Given the description of an element on the screen output the (x, y) to click on. 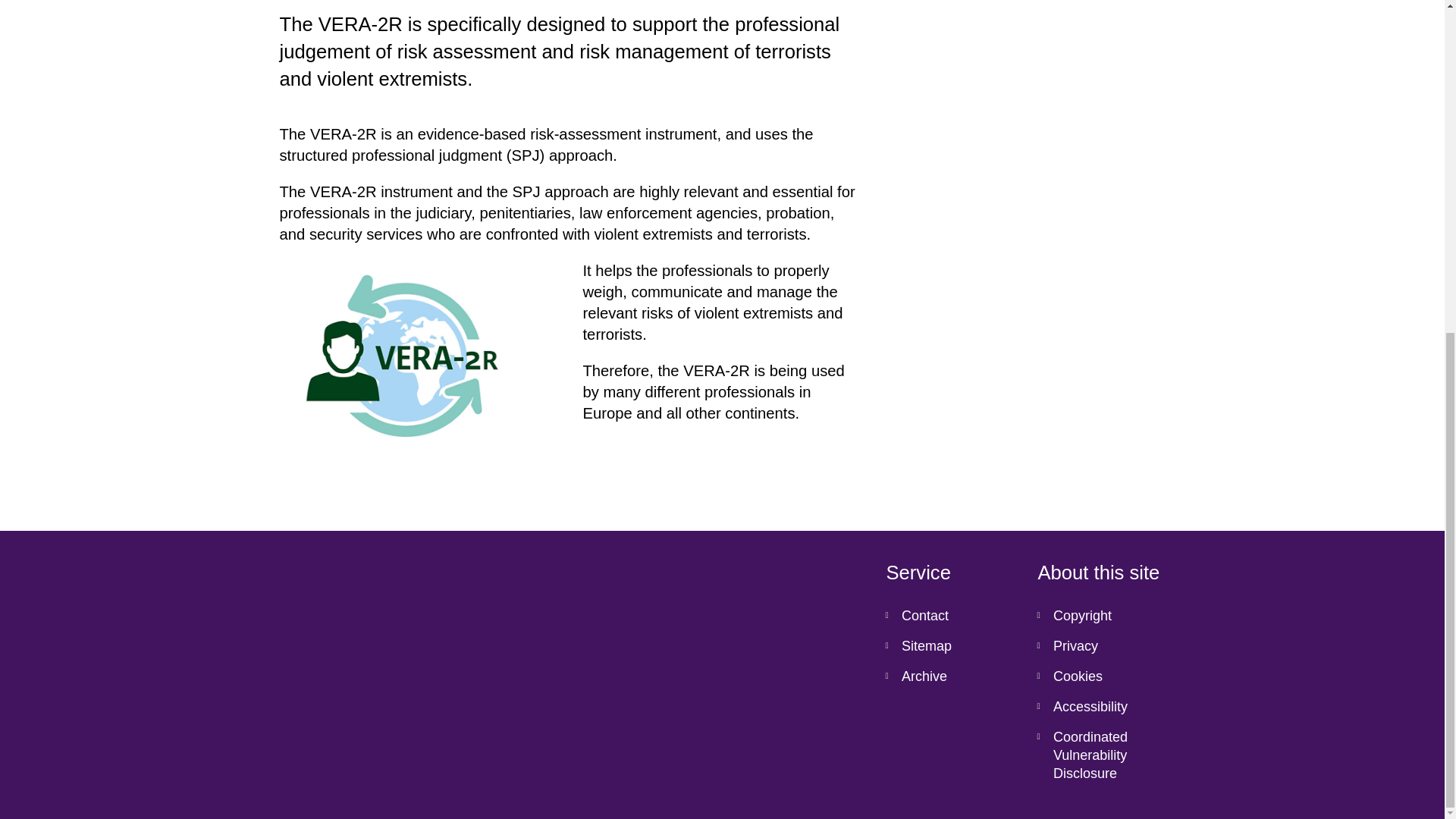
Sitemap (949, 645)
Copyright (1100, 615)
Contact (949, 615)
Privacy (1100, 645)
Coordinated Vulnerability Disclosure (1100, 754)
Cookies (1100, 675)
Archive (949, 675)
Accessibility (1100, 706)
